Given the description of an element on the screen output the (x, y) to click on. 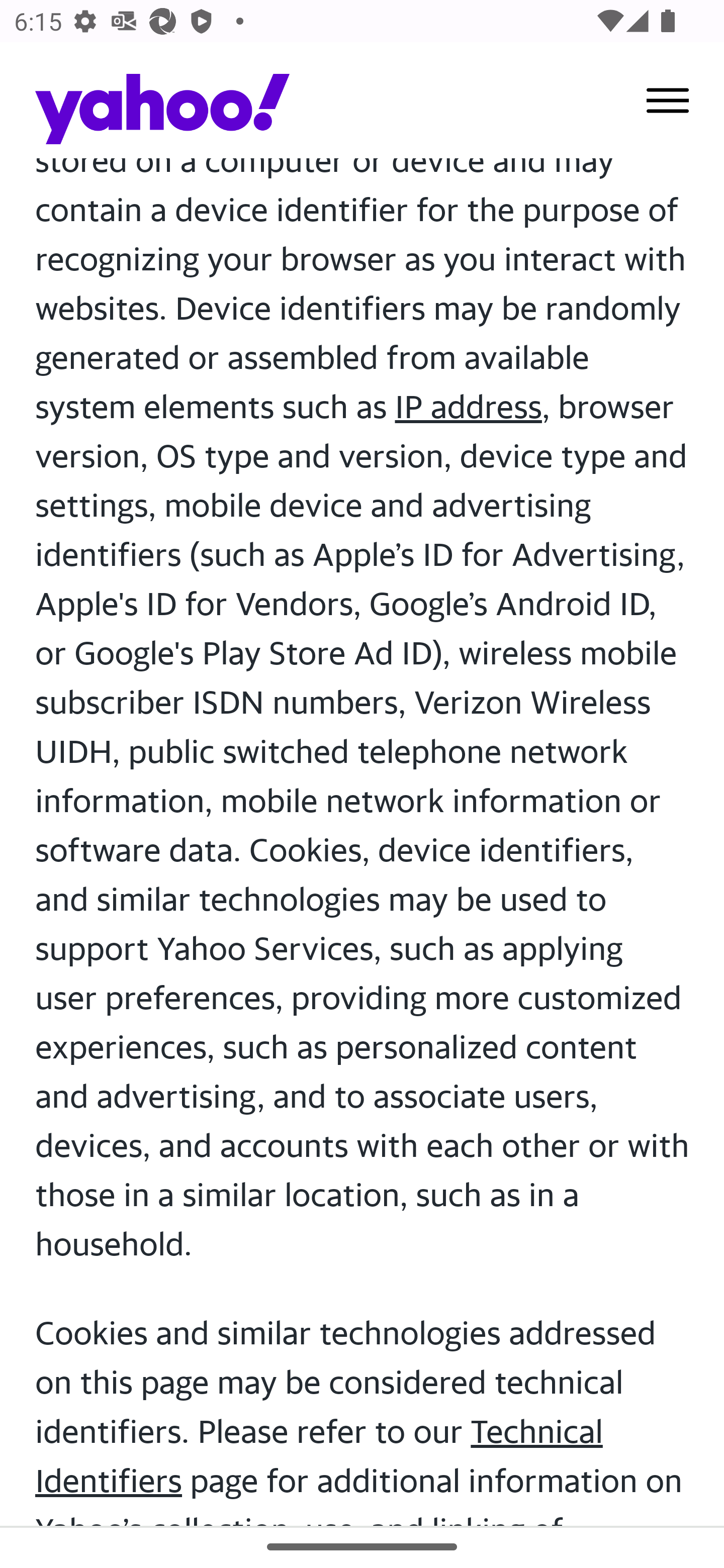
IP address (467, 407)
Technical Identifiers (319, 1457)
